Given the description of an element on the screen output the (x, y) to click on. 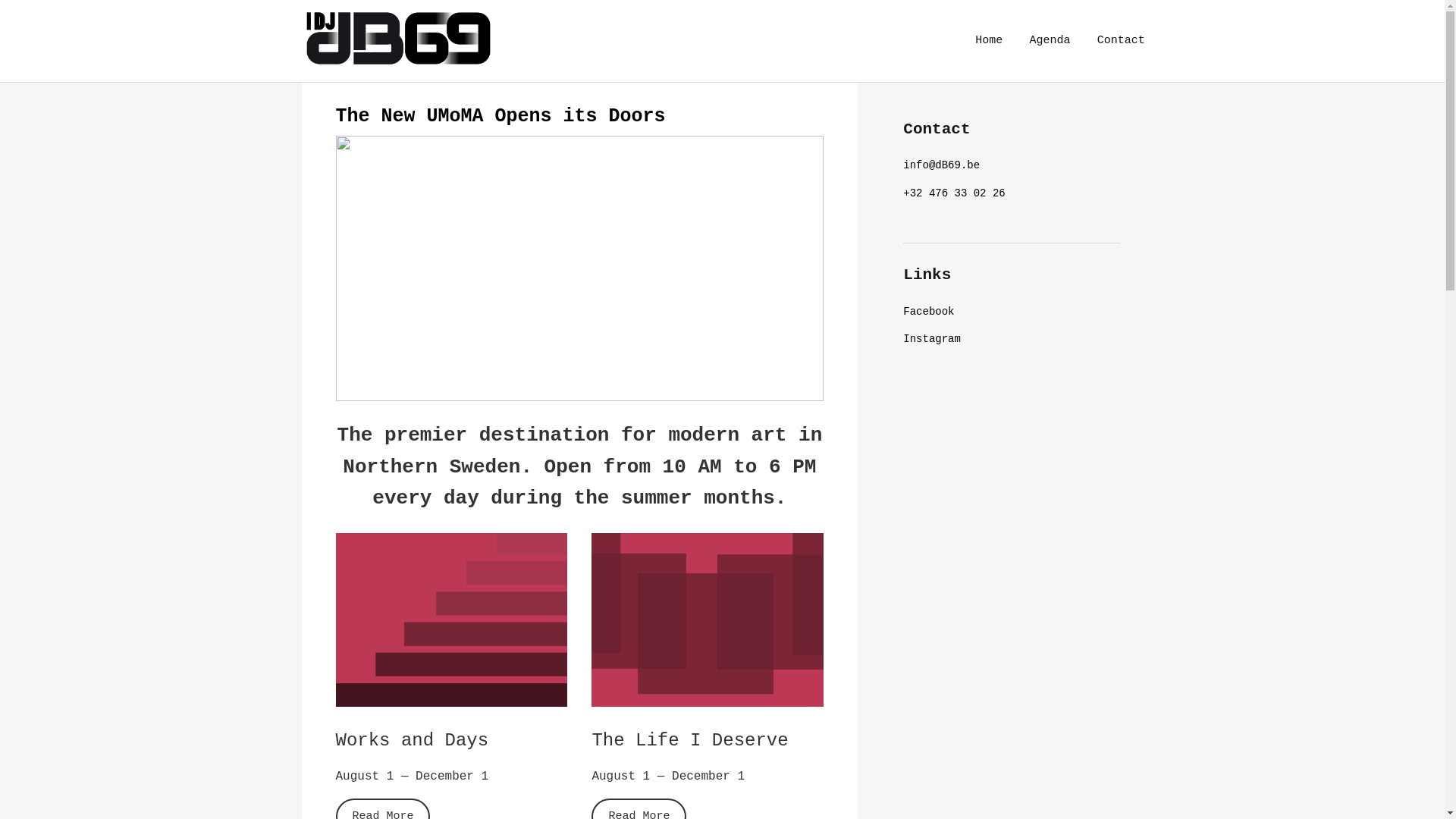
Agenda Element type: text (1049, 40)
Instagram Element type: text (931, 338)
Skip to content Element type: text (68, 20)
Contact Element type: text (1120, 40)
Facebook Element type: text (928, 311)
DJ DB69 Element type: text (324, 87)
info@dB69.be Element type: text (941, 165)
Home Element type: text (988, 40)
